Given the description of an element on the screen output the (x, y) to click on. 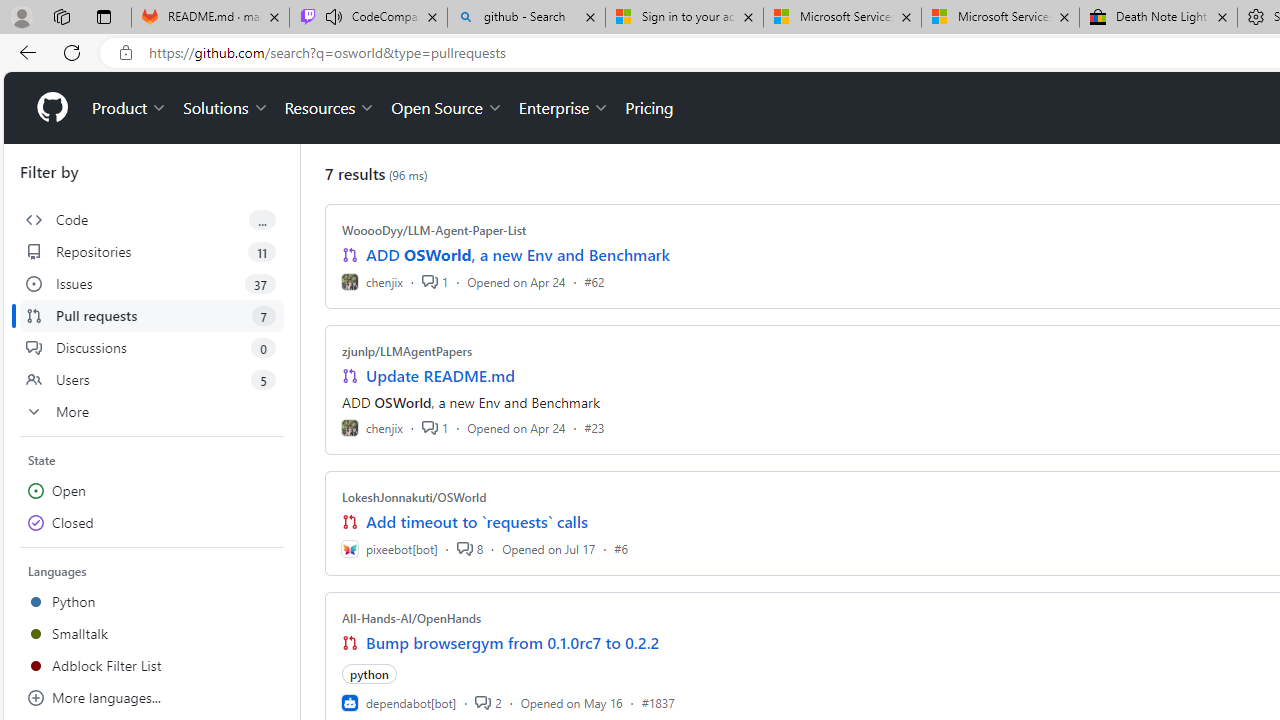
1 (435, 427)
Mute tab (333, 16)
#62 (594, 281)
